Given the description of an element on the screen output the (x, y) to click on. 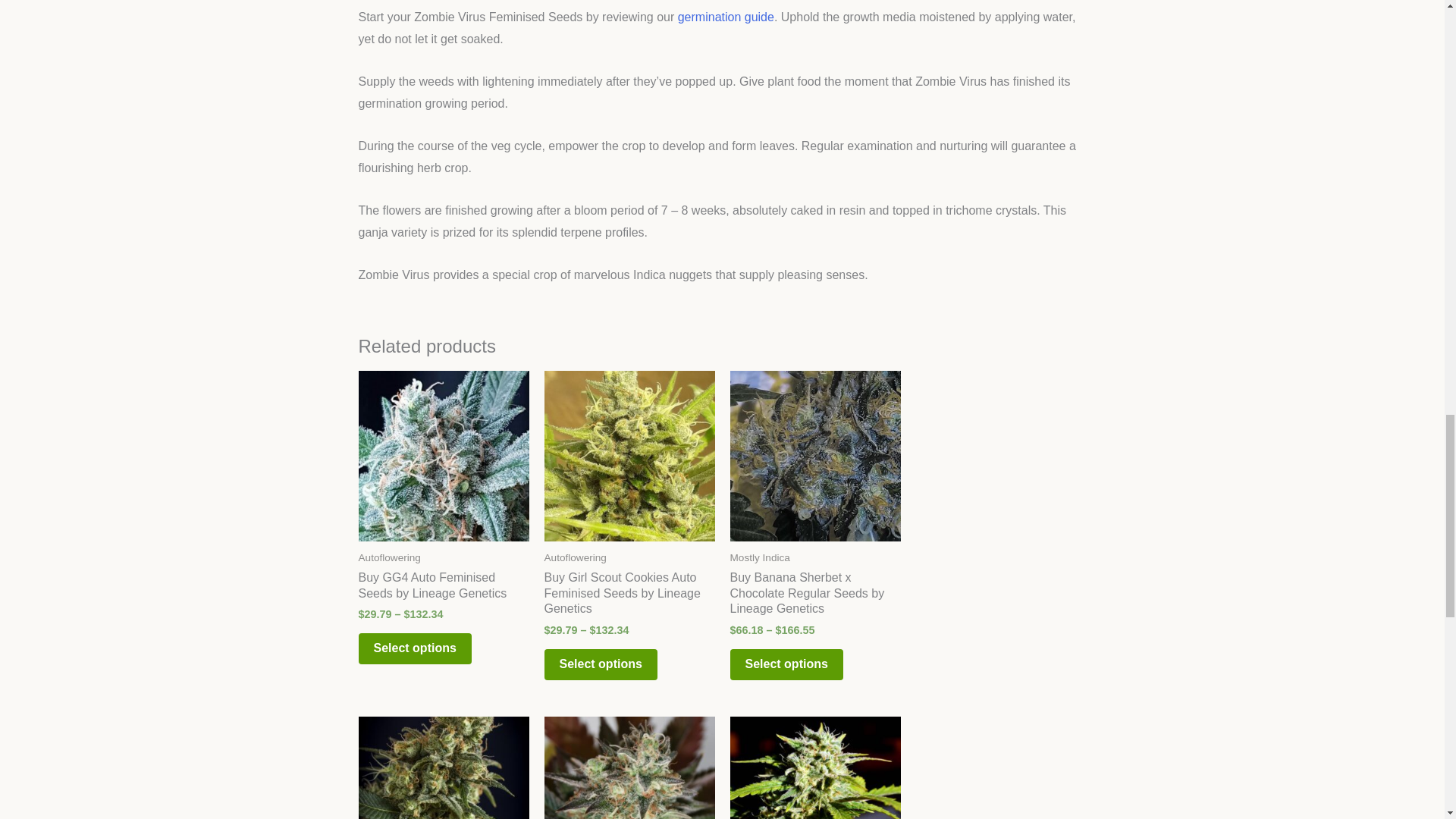
Buy GG4 Auto Feminised Seeds by Lineage Genetics (443, 589)
Select options (414, 648)
germination guide (726, 16)
